Given the description of an element on the screen output the (x, y) to click on. 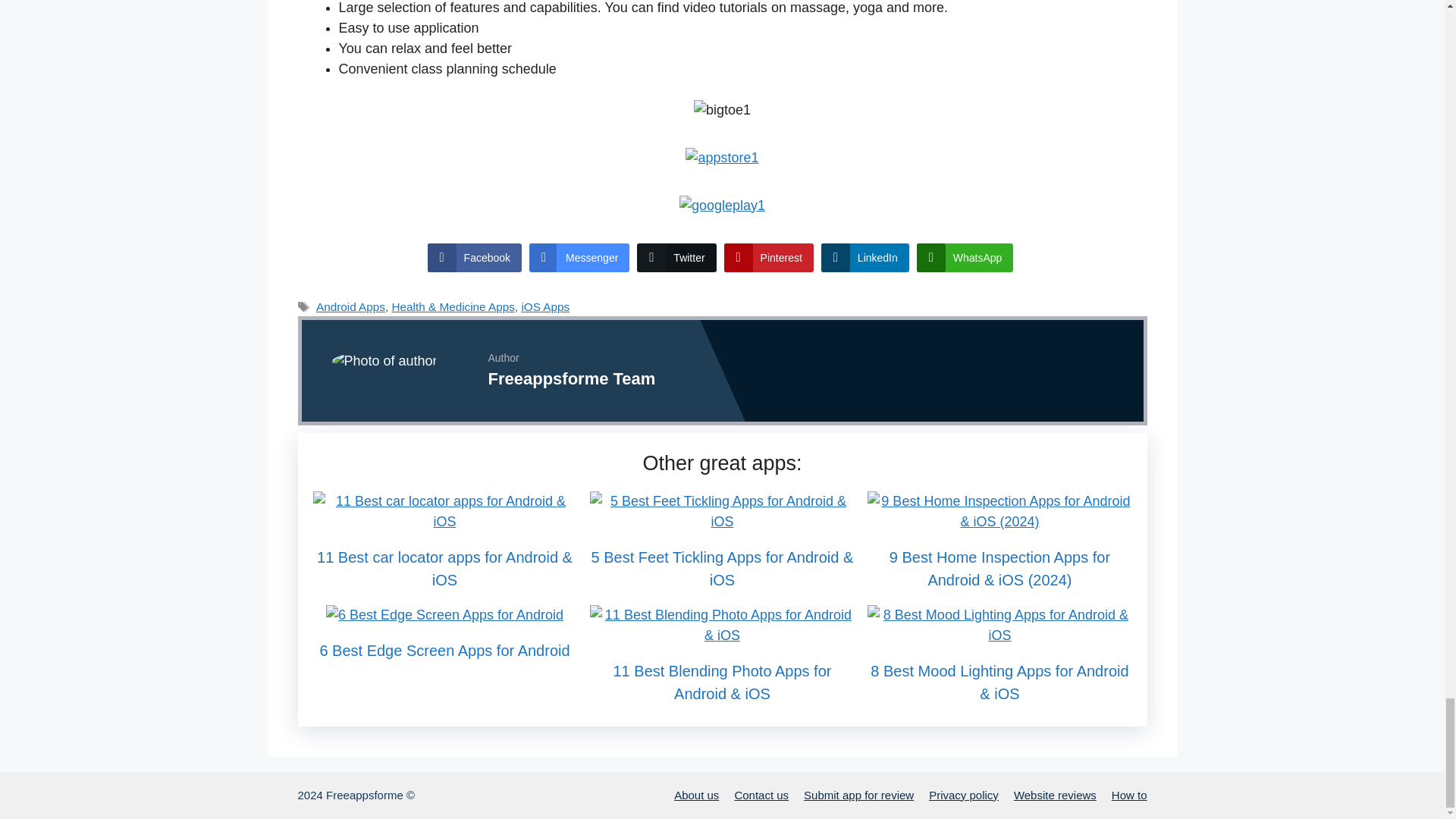
WhatsApp (965, 257)
Pinterest (768, 257)
Facebook (474, 257)
Messenger (578, 257)
Twitter (676, 257)
Android Apps (350, 306)
6 Best Edge Screen Apps for Android (444, 614)
LinkedIn (864, 257)
